Given the description of an element on the screen output the (x, y) to click on. 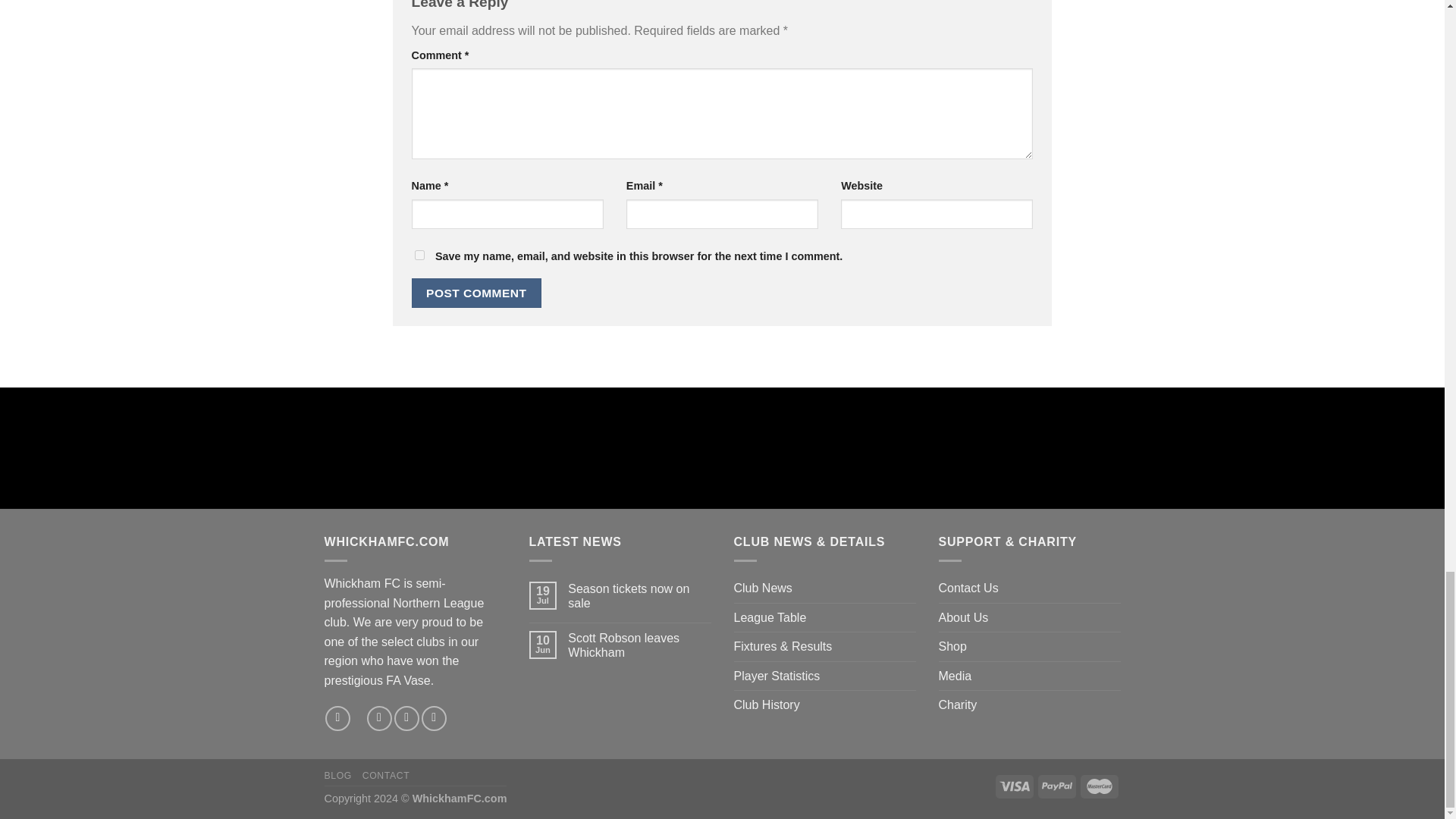
yes (418, 255)
Post Comment (475, 292)
